Given the description of an element on the screen output the (x, y) to click on. 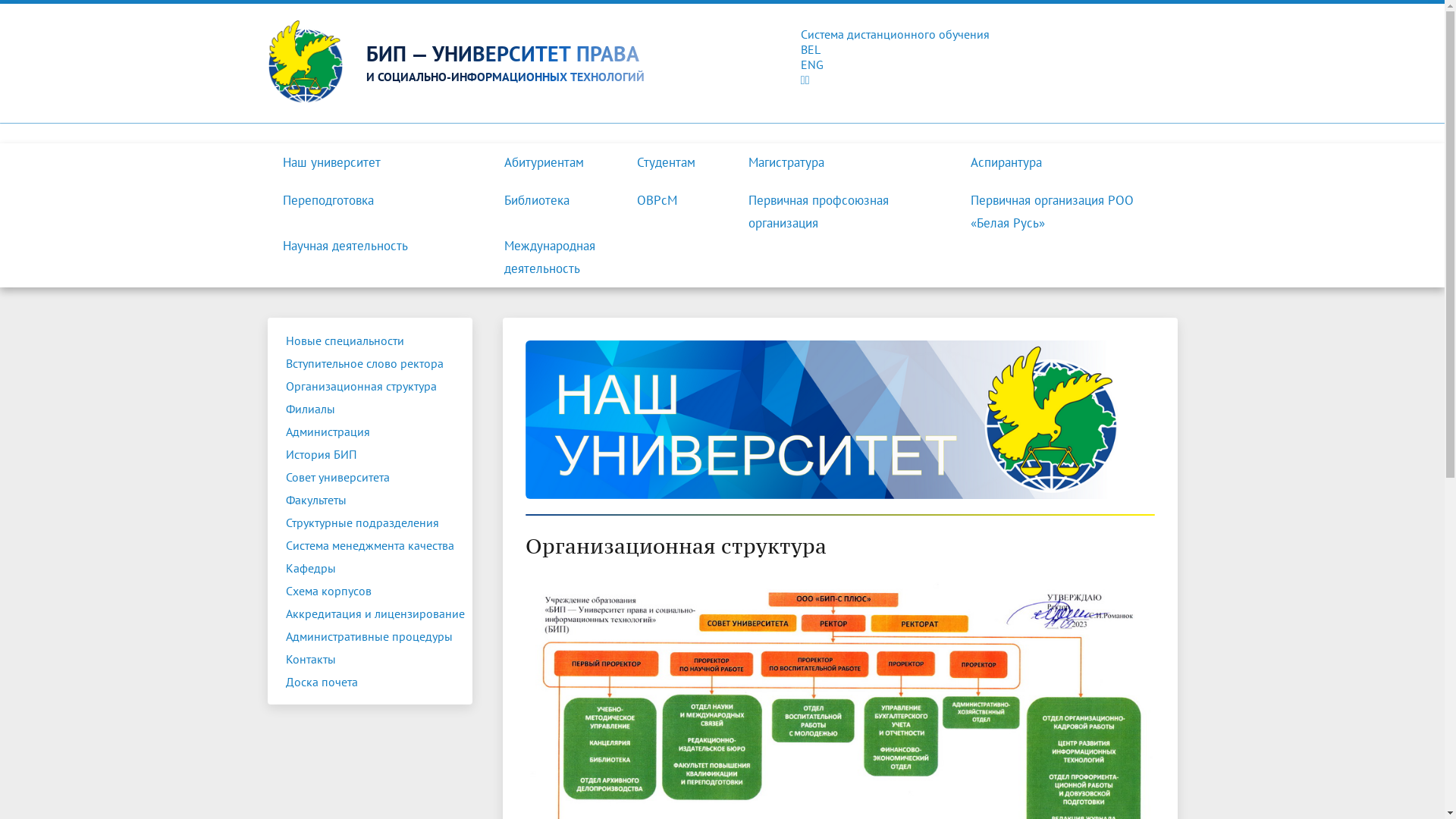
BEL Element type: text (721, 48)
2023.jpg Element type: hover (839, 802)
ENG Element type: text (721, 64)
